Given the description of an element on the screen output the (x, y) to click on. 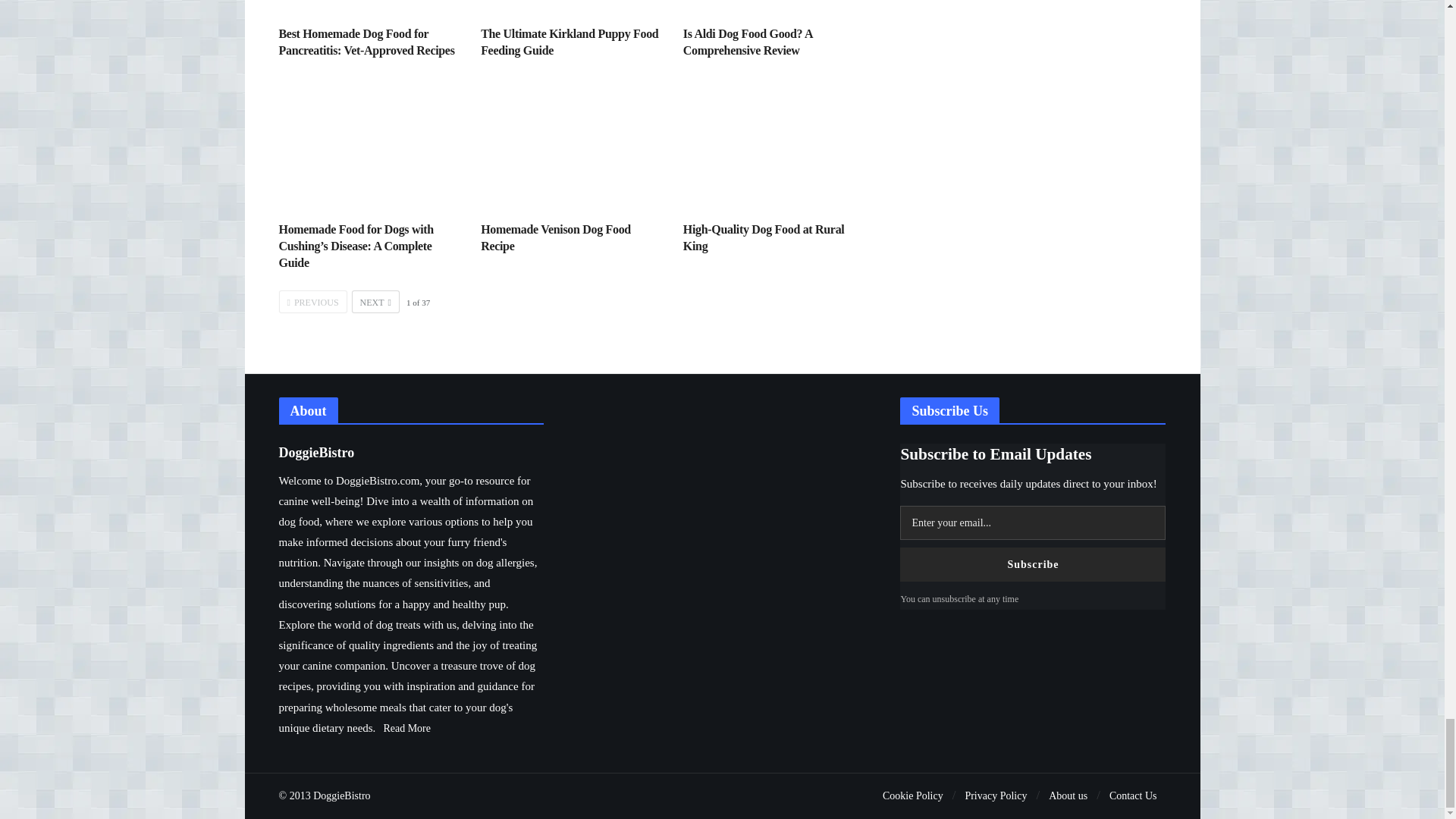
The Ultimate Kirkland Puppy Food Feeding Guide (570, 7)
High-Quality Dog Food at Rural King (763, 237)
The Ultimate Kirkland Puppy Food Feeding Guide (569, 41)
Previous (313, 301)
PREVIOUS (313, 301)
Is Aldi Dog Food Good? A Comprehensive Review (747, 41)
Homemade Venison Dog Food Recipe (555, 237)
Is Aldi Dog Food Good? A Comprehensive Review (747, 41)
Homemade Venison Dog Food Recipe (555, 237)
High-Quality Dog Food at Rural King (772, 145)
NEXT (375, 301)
The Ultimate Kirkland Puppy Food Feeding Guide (569, 41)
